Given the description of an element on the screen output the (x, y) to click on. 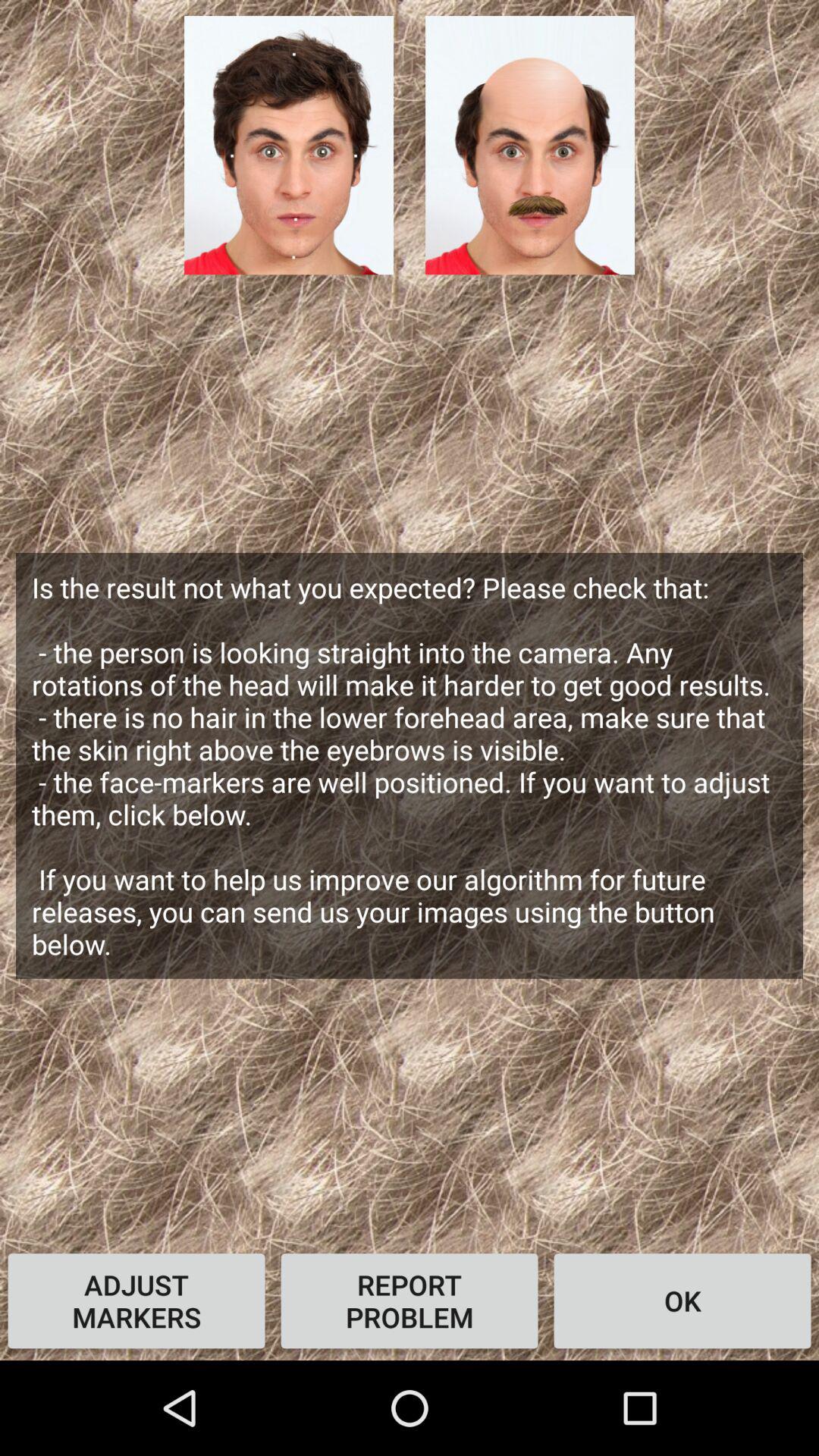
turn on button to the right of report problem item (682, 1300)
